Given the description of an element on the screen output the (x, y) to click on. 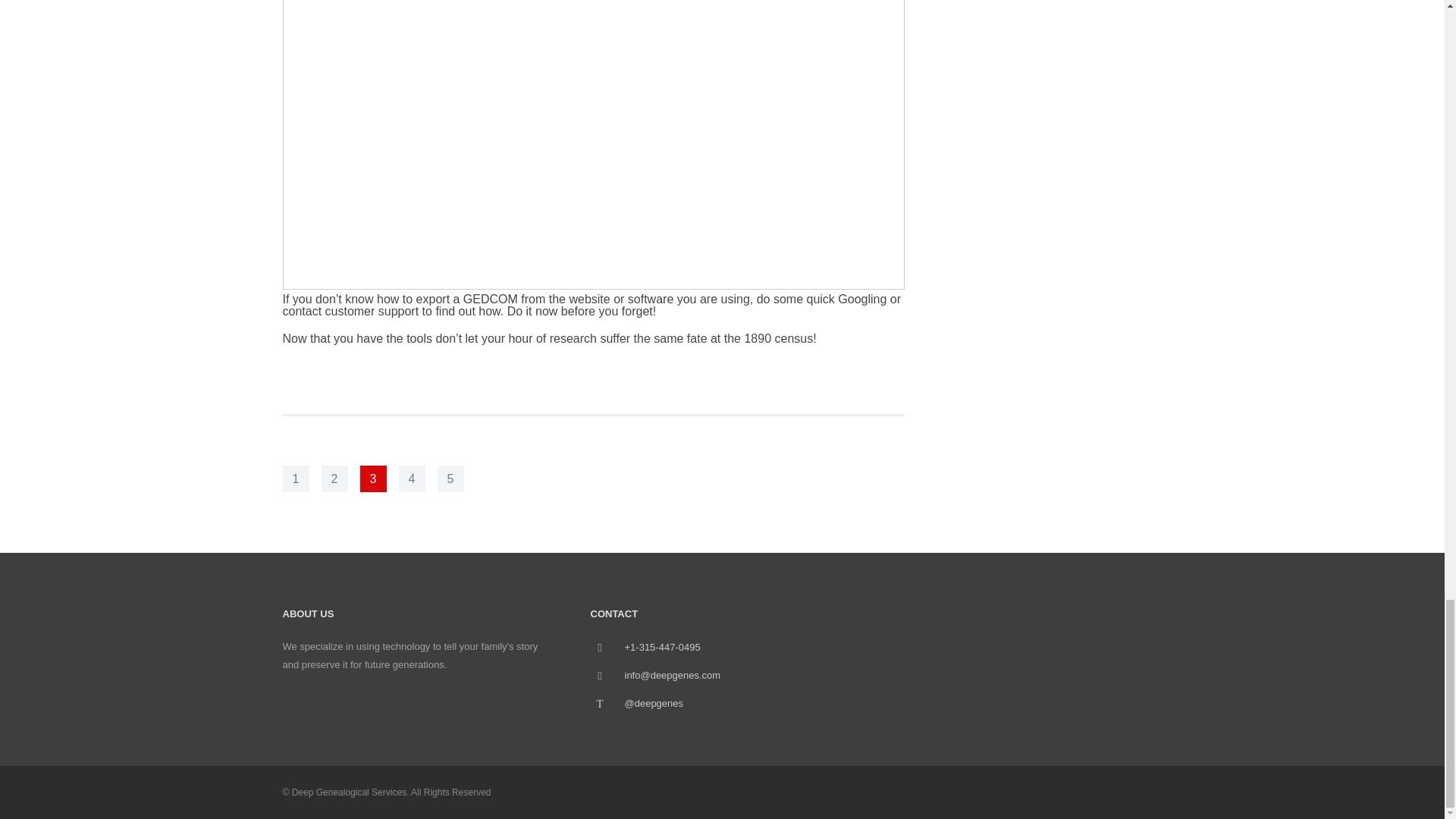
1 (295, 479)
2 (334, 479)
5 (449, 479)
4 (411, 479)
